Given the description of an element on the screen output the (x, y) to click on. 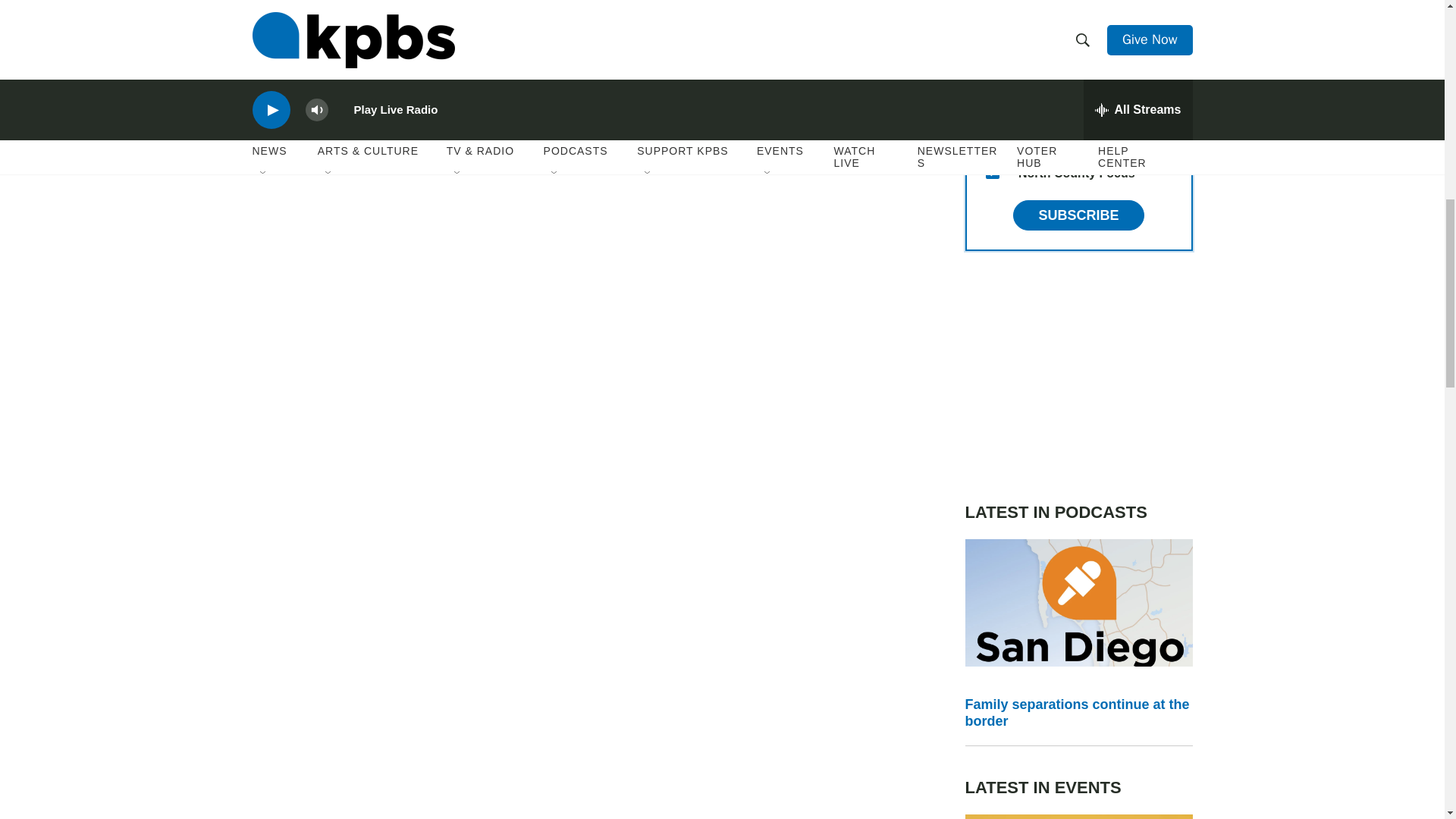
1 (991, 99)
6 (991, 26)
2 (991, 62)
8 (991, 135)
15 (991, 172)
